Given the description of an element on the screen output the (x, y) to click on. 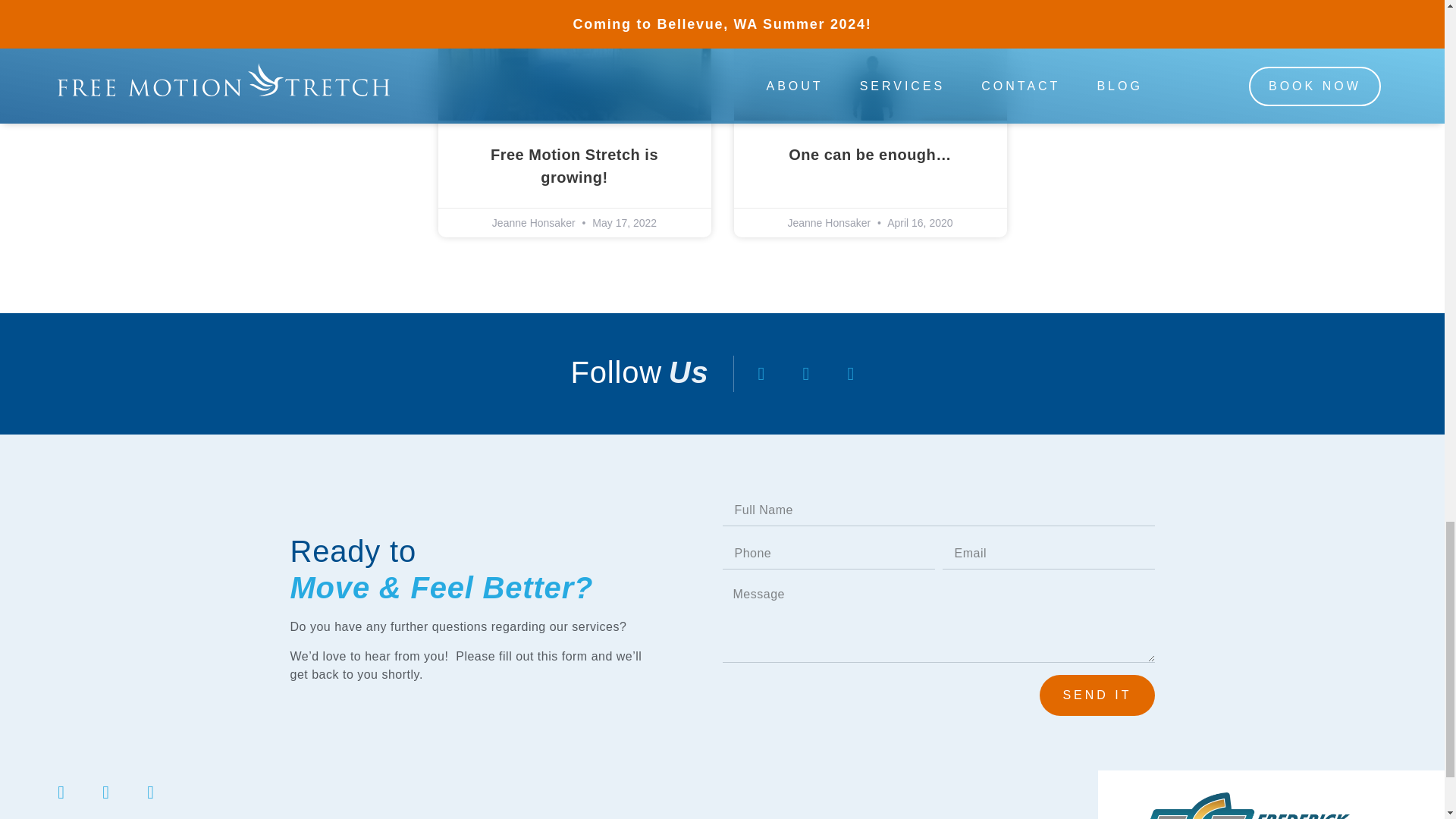
SEND IT (1096, 694)
Free Motion Stretch is growing! (574, 165)
